Given the description of an element on the screen output the (x, y) to click on. 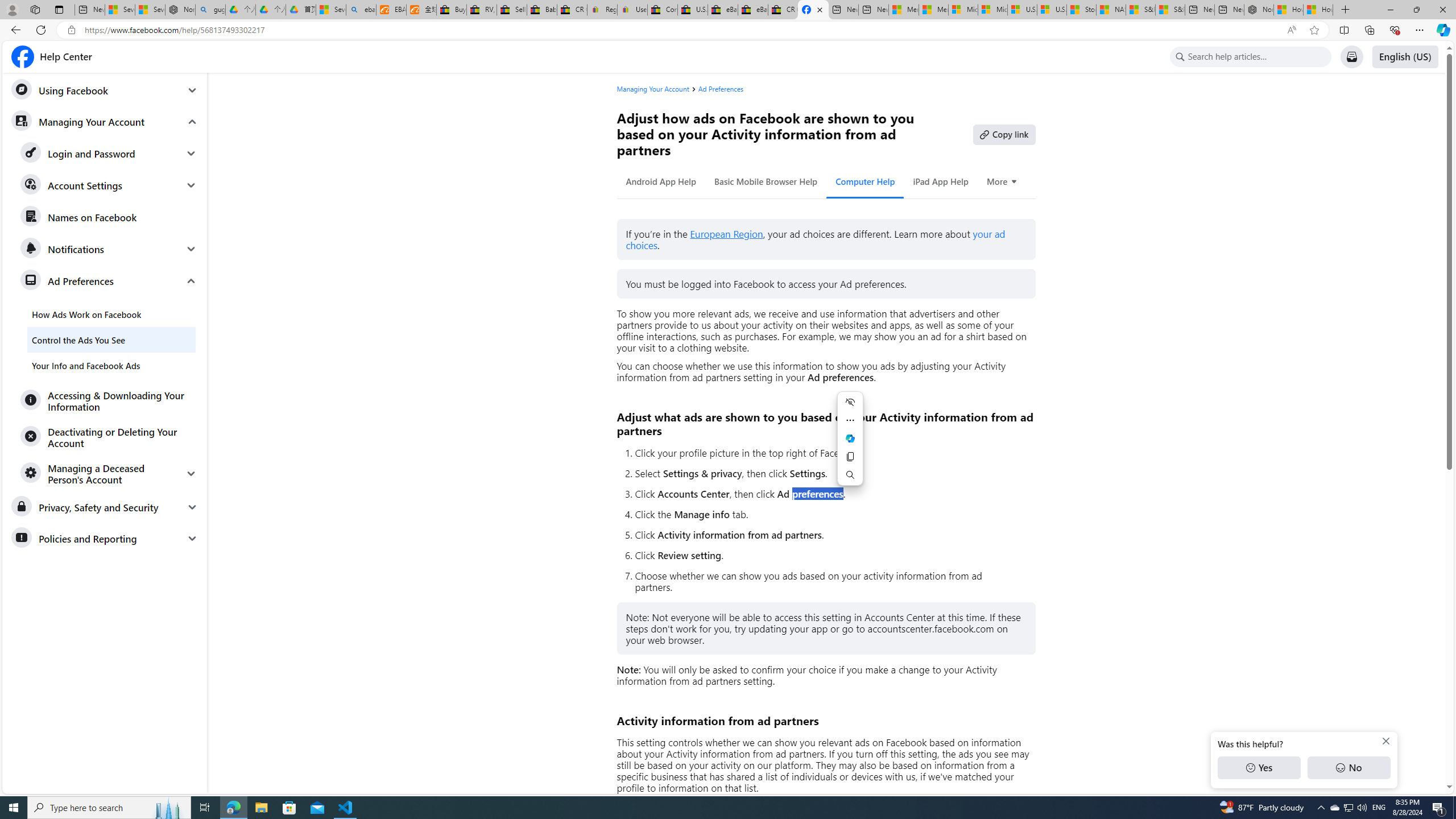
Select Settings & privacy, then click Settings. (829, 473)
Policies and Reporting (104, 538)
Click Review setting. (829, 555)
How Ads Work on Facebook (111, 313)
Click Activity information from ad partners. (829, 534)
Ad Preferences Expand (109, 280)
Click Accounts Center, then click Ad preferences. (829, 493)
Deactivating or Deleting Your Account (109, 436)
Account Settings (108, 185)
Register: Create a personal eBay account (601, 9)
Names on Facebook (108, 217)
